Given the description of an element on the screen output the (x, y) to click on. 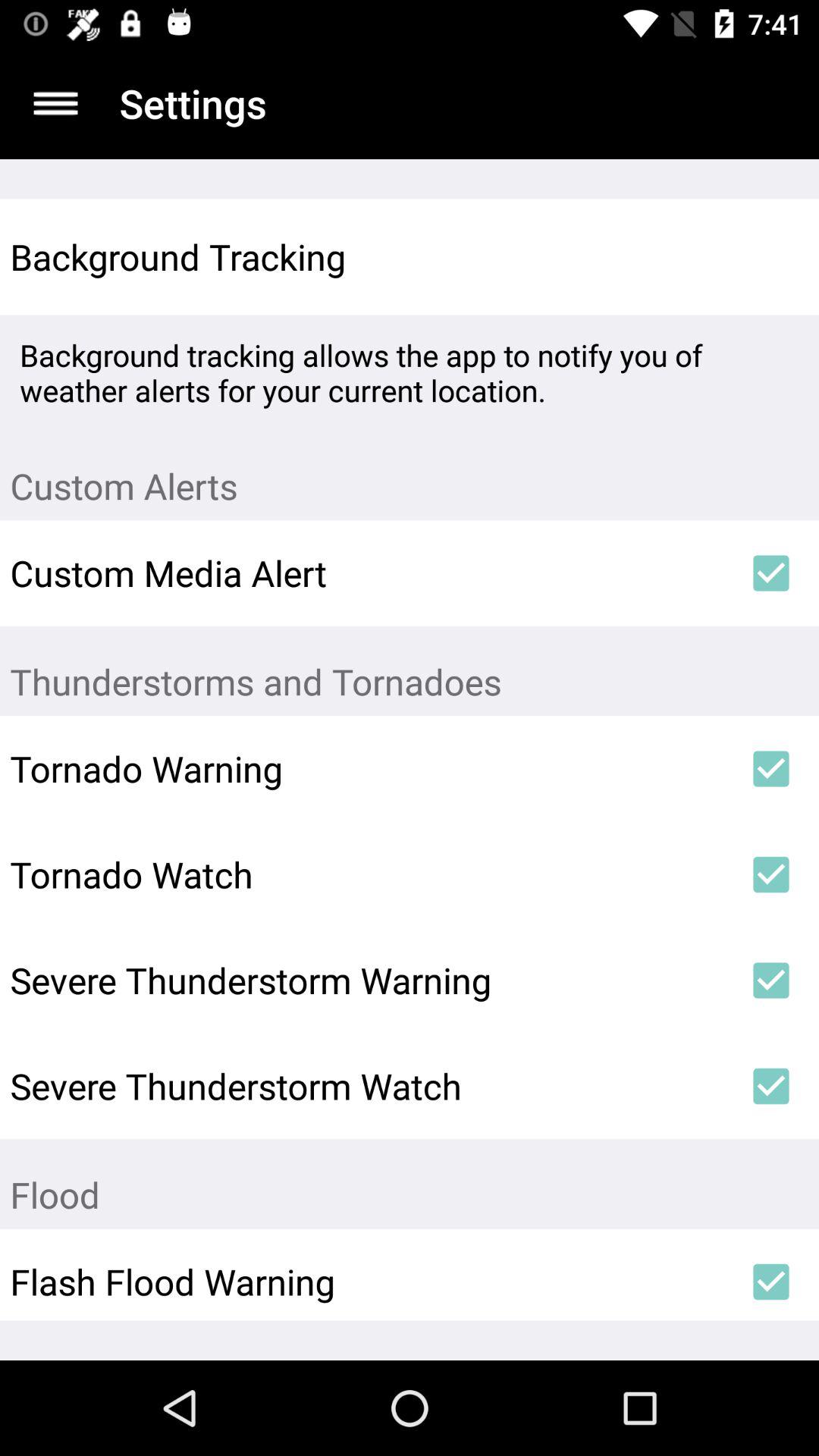
tap item below flood (771, 1281)
